Given the description of an element on the screen output the (x, y) to click on. 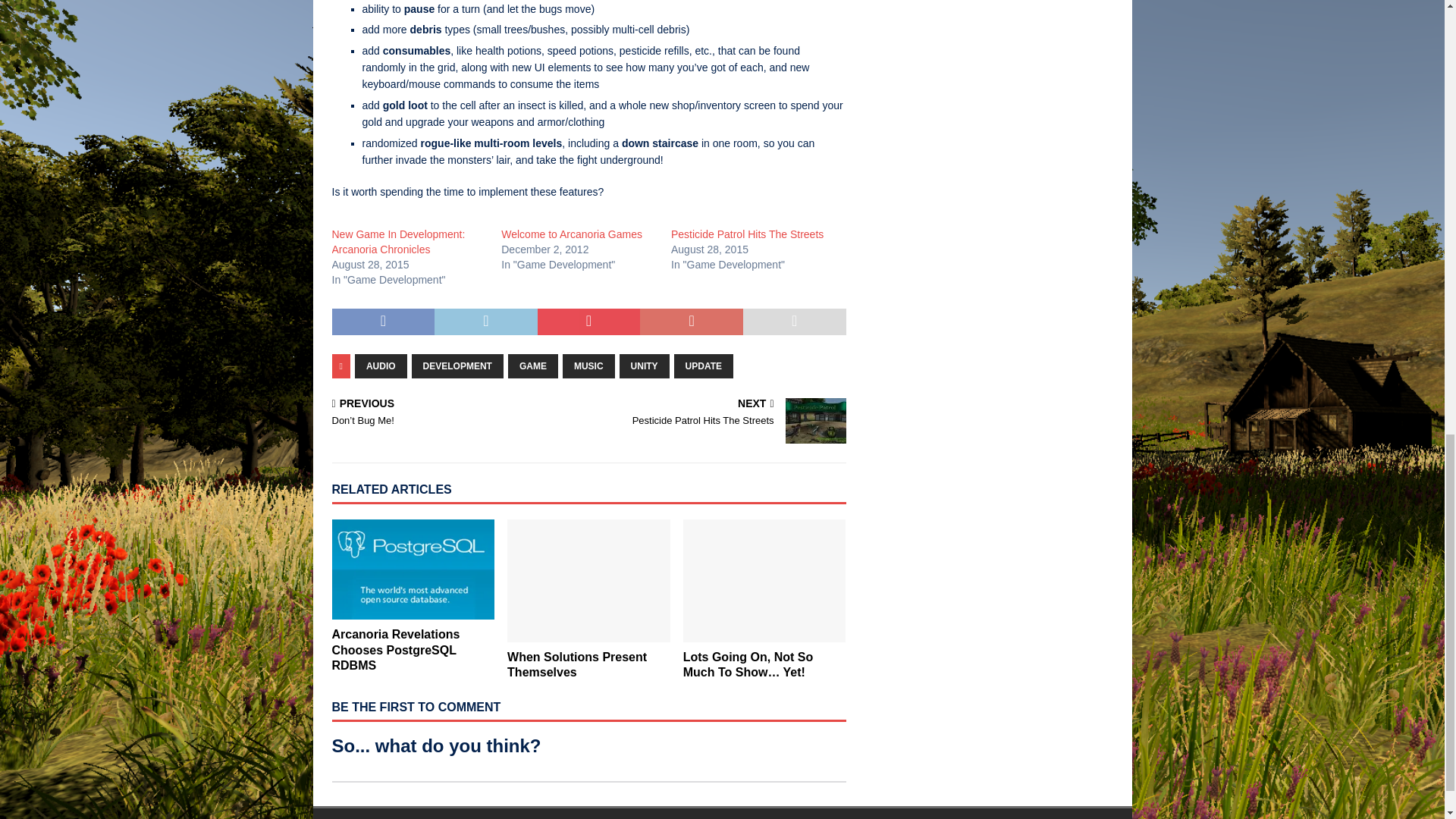
New Game In Development: Arcanoria Chronicles (398, 241)
Welcome to Arcanoria Games (571, 234)
